Given the description of an element on the screen output the (x, y) to click on. 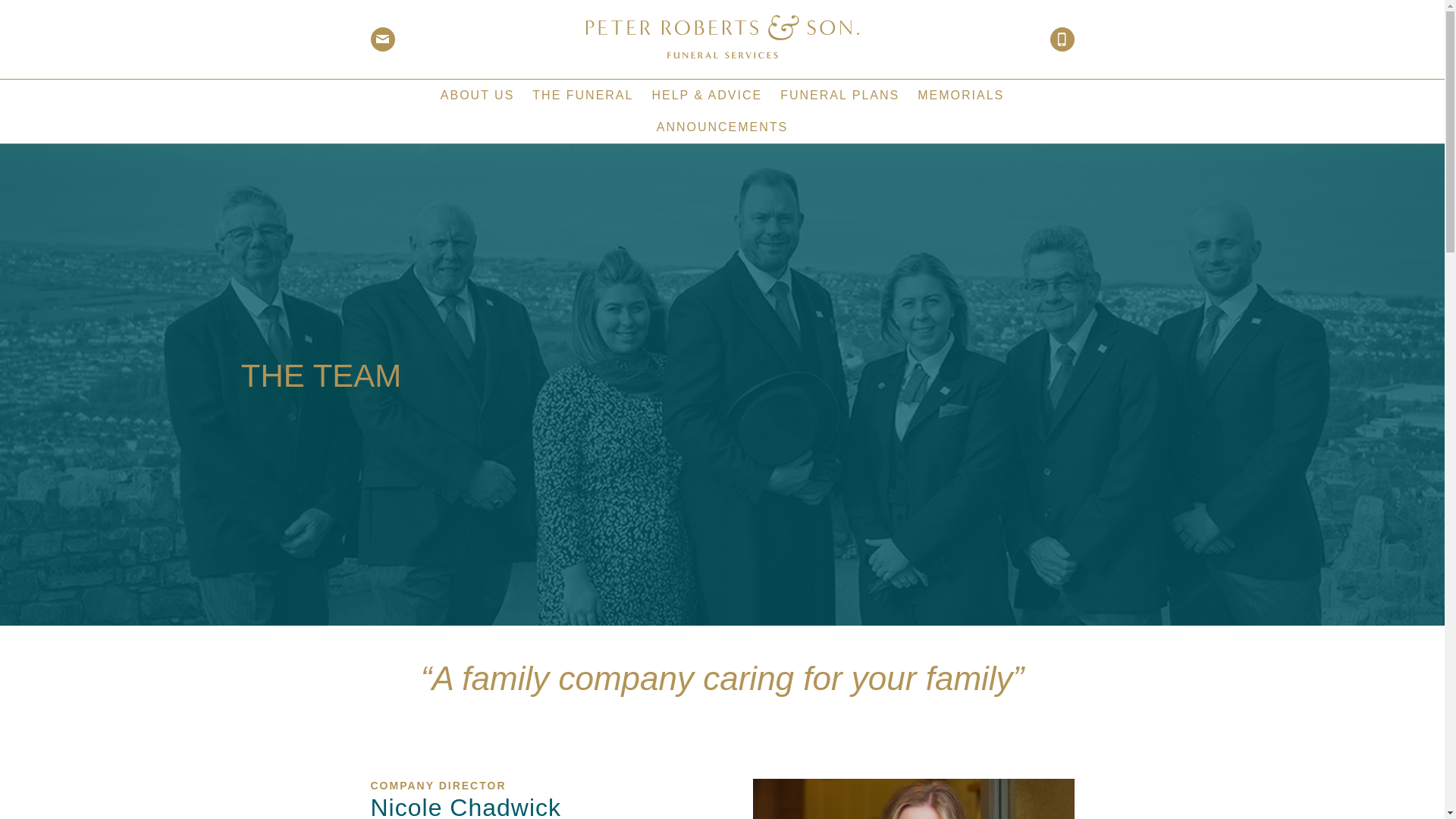
MEMORIALS (960, 94)
ANNOUNCEMENTS (722, 126)
FUNERAL PLANS (839, 94)
